Given the description of an element on the screen output the (x, y) to click on. 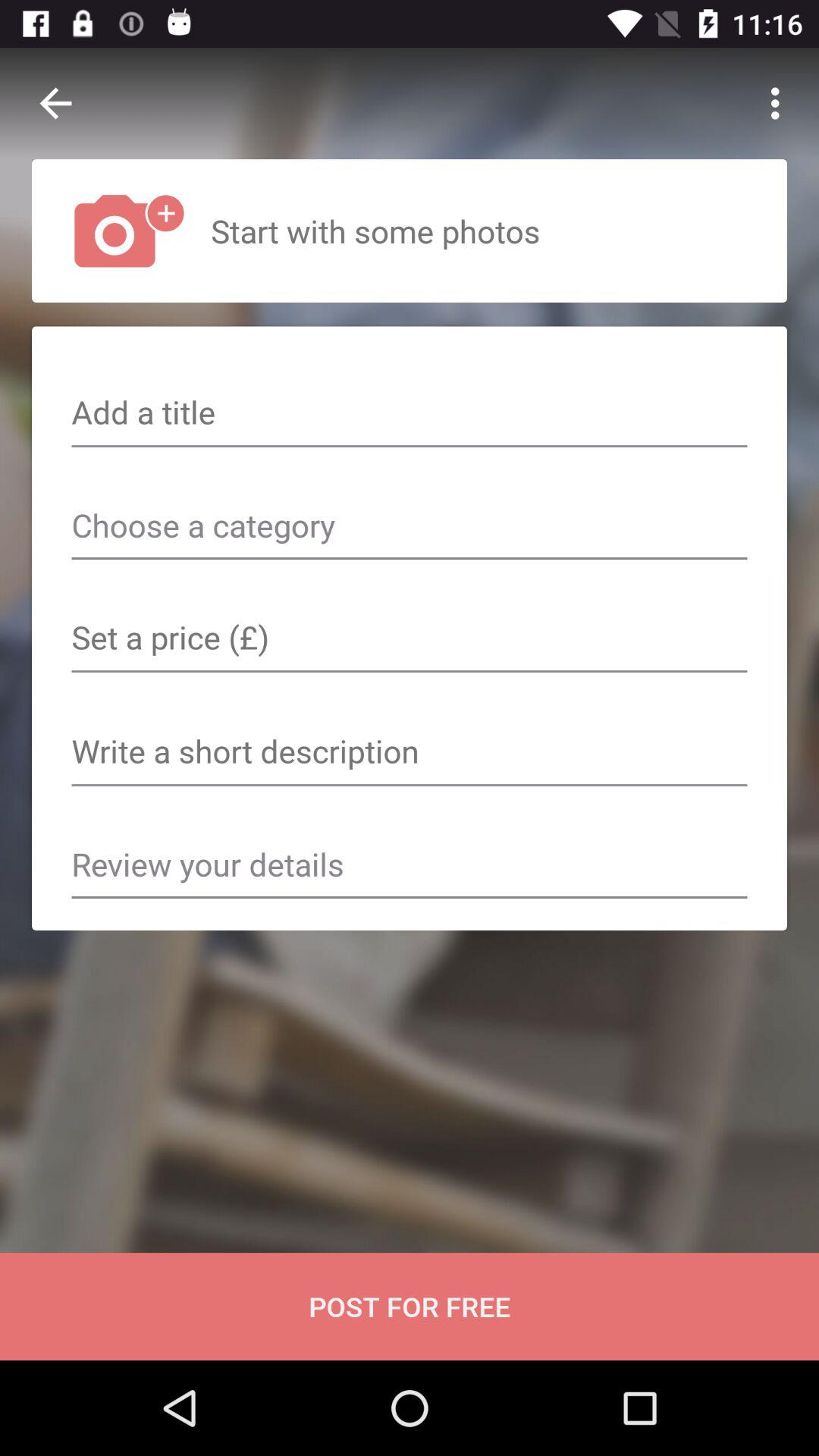
set a price text field (409, 639)
